Given the description of an element on the screen output the (x, y) to click on. 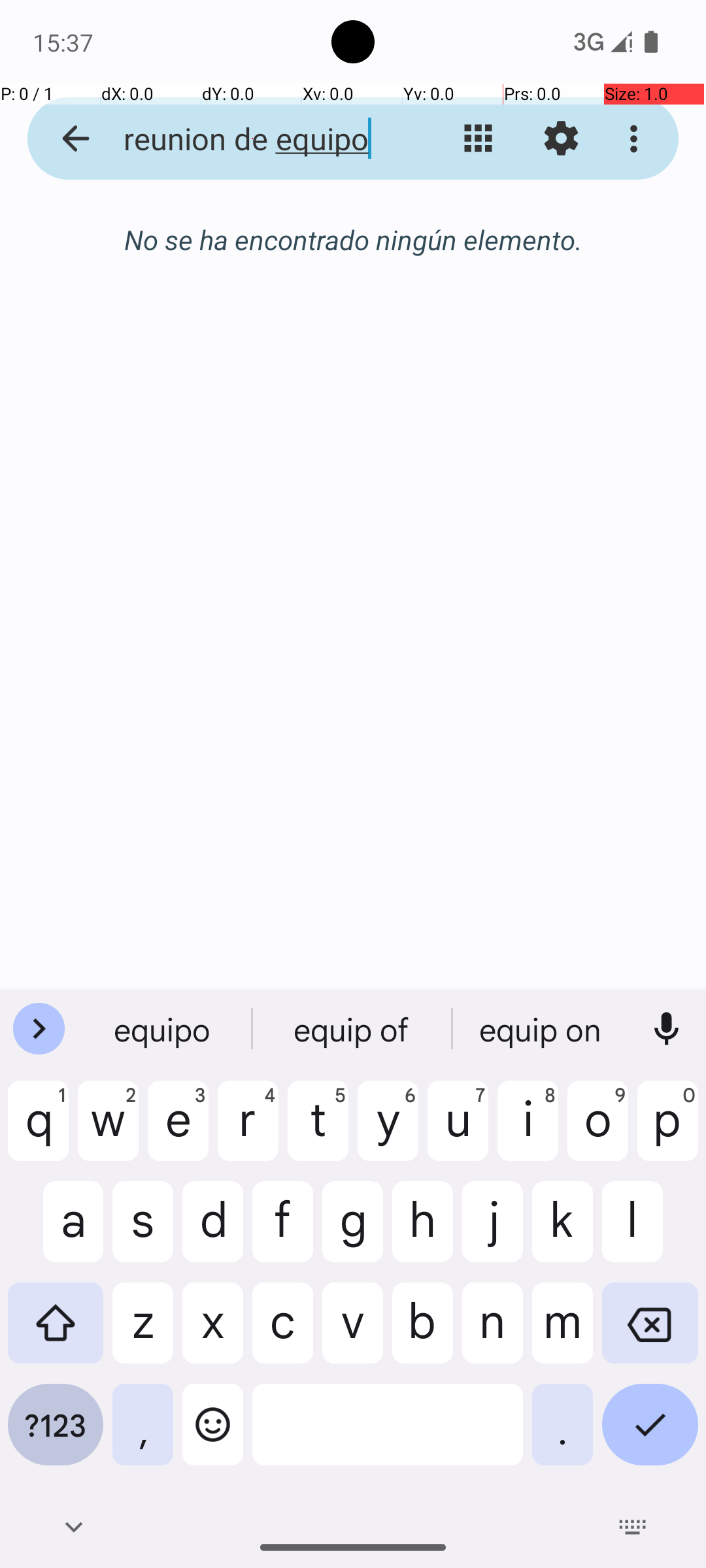
reunion de equipo Element type: android.widget.EditText (252, 138)
equipo Element type: android.widget.FrameLayout (163, 1028)
equipment Element type: android.widget.FrameLayout (541, 1028)
15:37 Element type: android.widget.TextView (64, 41)
